Given the description of an element on the screen output the (x, y) to click on. 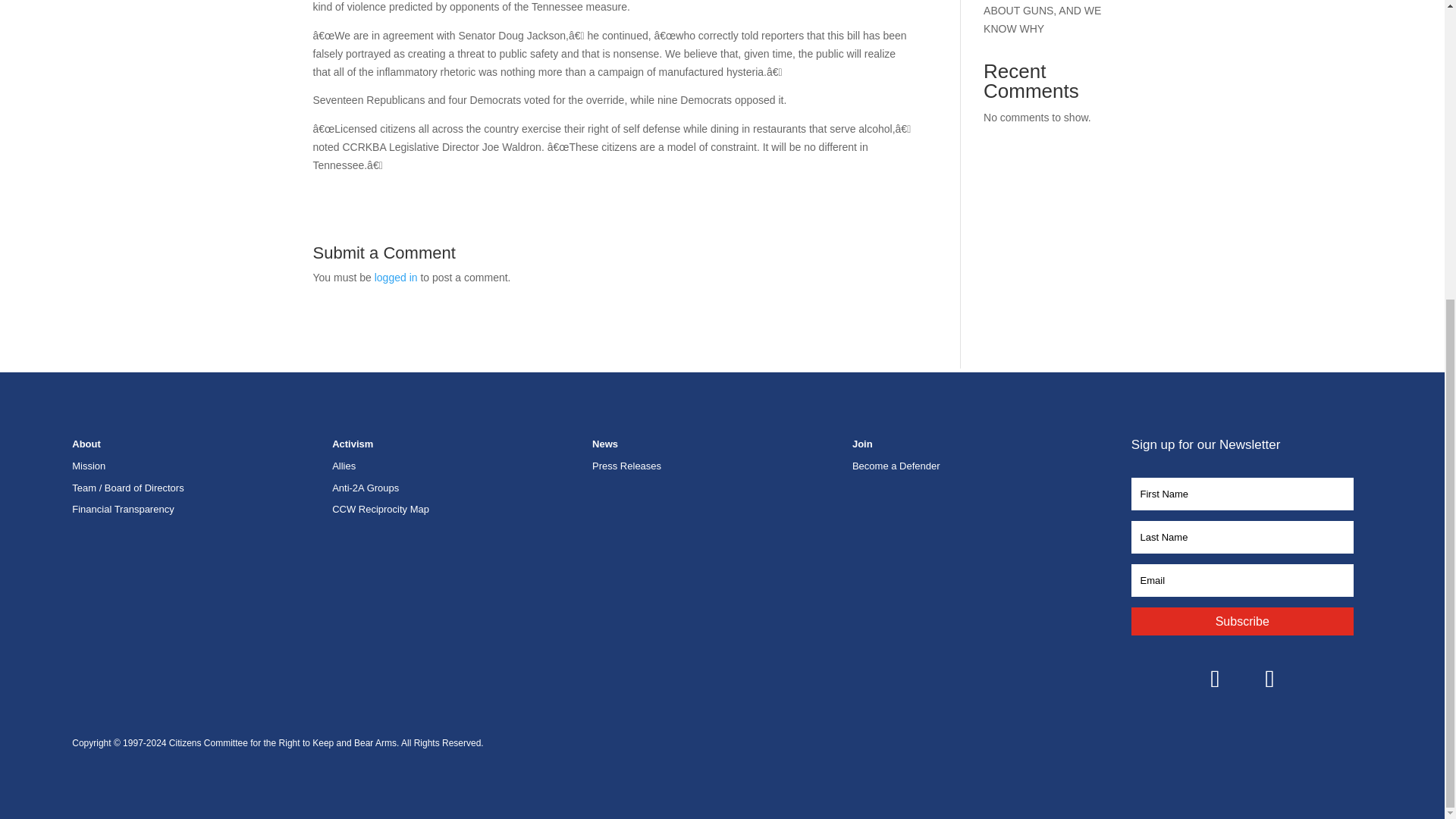
Follow on X (1269, 678)
Follow on Facebook (1215, 678)
Subscribe (1242, 621)
logged in (395, 277)
